Given the description of an element on the screen output the (x, y) to click on. 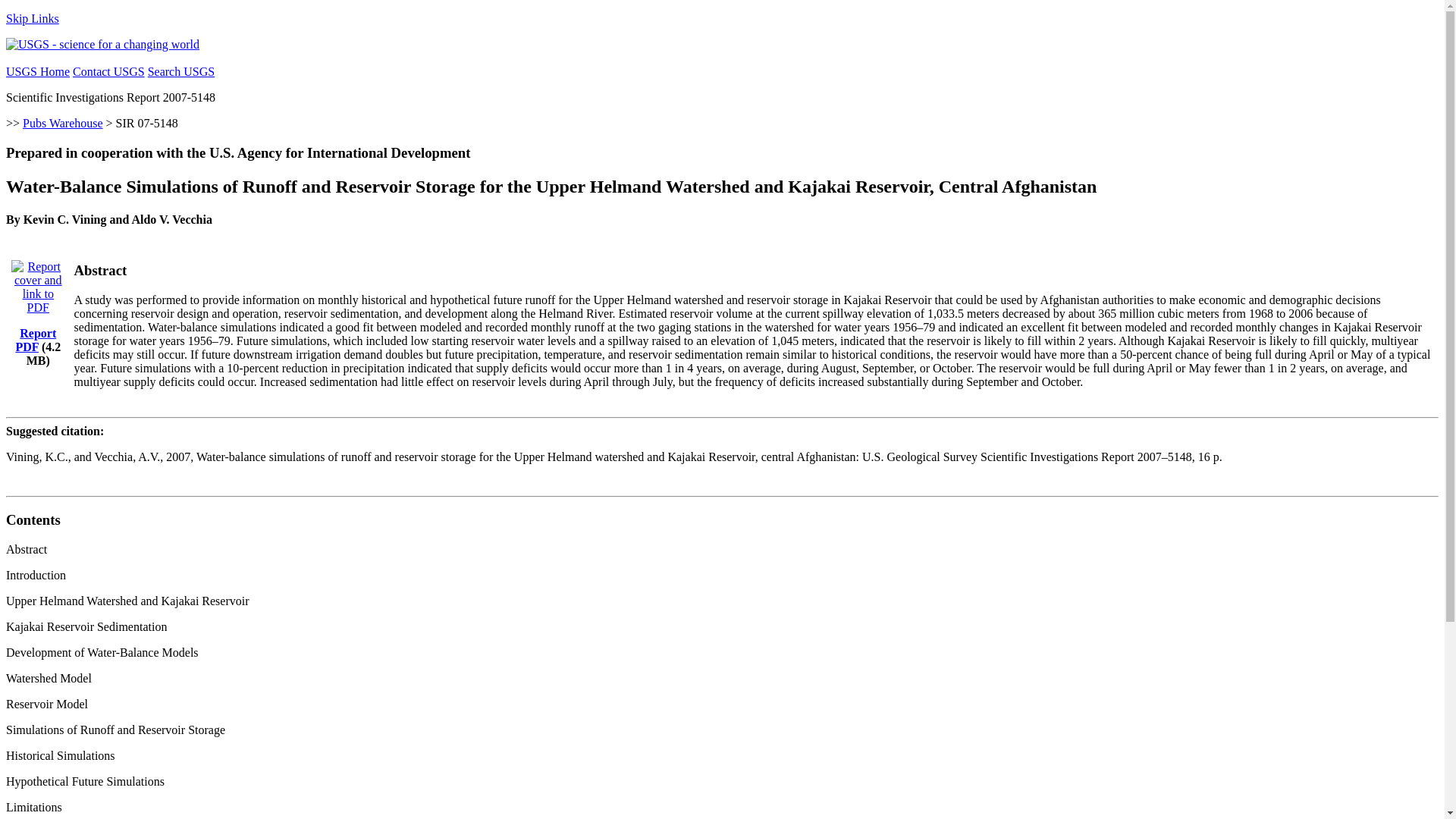
USGS Publications Warehouse (63, 123)
Pubs Warehouse (63, 123)
Contact USGS (108, 71)
Search USGS (181, 71)
USGS Home (37, 71)
Report PDF (35, 339)
Skip Links (32, 18)
U.S. Geological Survey Home Page (102, 44)
